Given the description of an element on the screen output the (x, y) to click on. 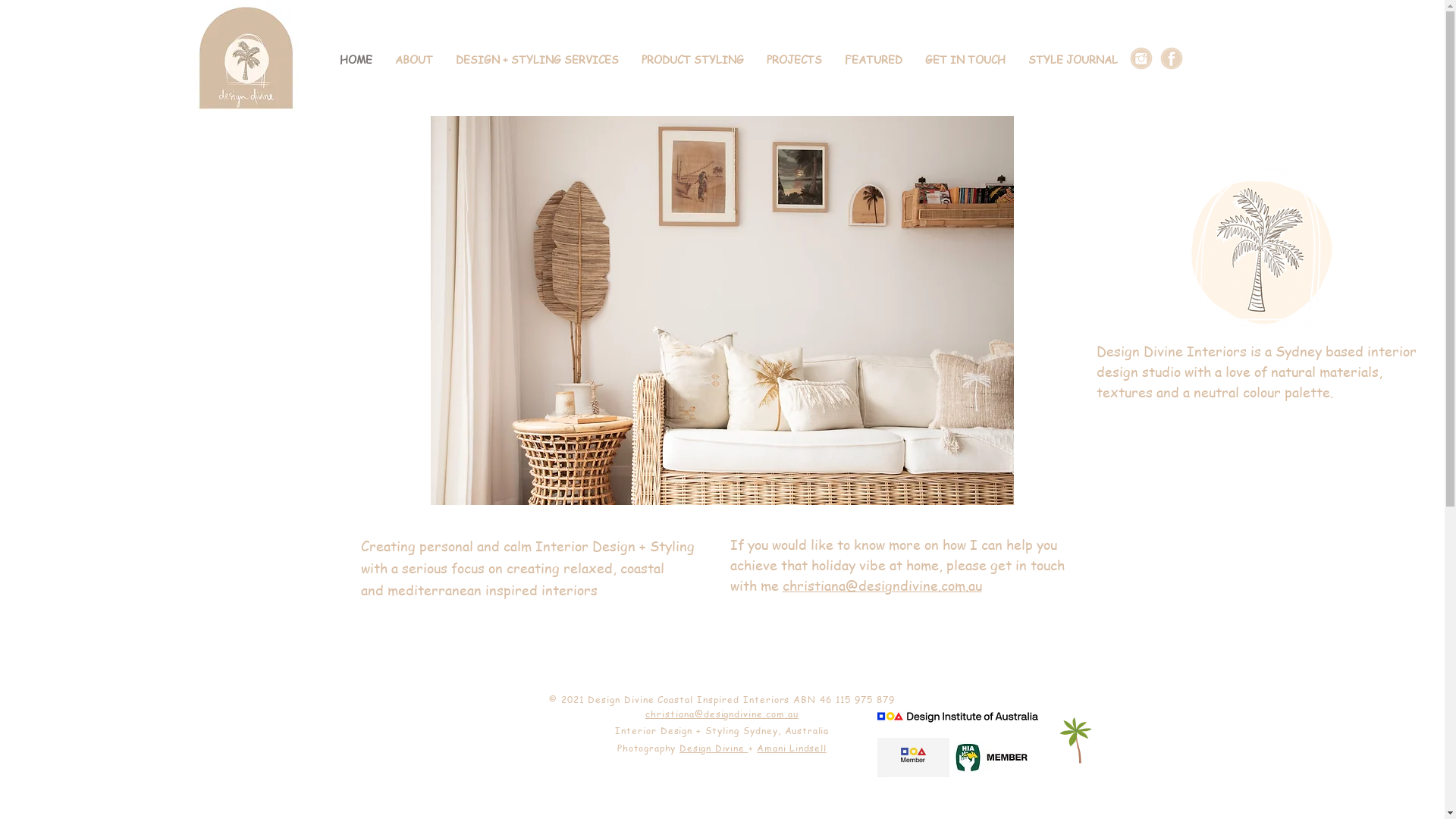
DESIGN + STYLING SERVICES Element type: text (537, 59)
DIA_Symbol_WordMarque_Single_Colour.png Element type: hover (960, 716)
STYLE JOURNAL Element type: text (1072, 59)
follow me on instagram Element type: text (729, 702)
GET IN TOUCH Element type: text (964, 59)
HOME Element type: text (355, 59)
PROJECTS Element type: text (794, 59)
christiana@designdivine.com.au Element type: text (721, 713)
christiana@designdivine.com.au Element type: text (882, 584)
Design Divine Element type: text (713, 747)
FEATURED Element type: text (873, 59)
Amani Lindsell Element type: text (791, 747)
ABOUT Element type: text (413, 59)
PRODUCT STYLING Element type: text (692, 59)
